Given the description of an element on the screen output the (x, y) to click on. 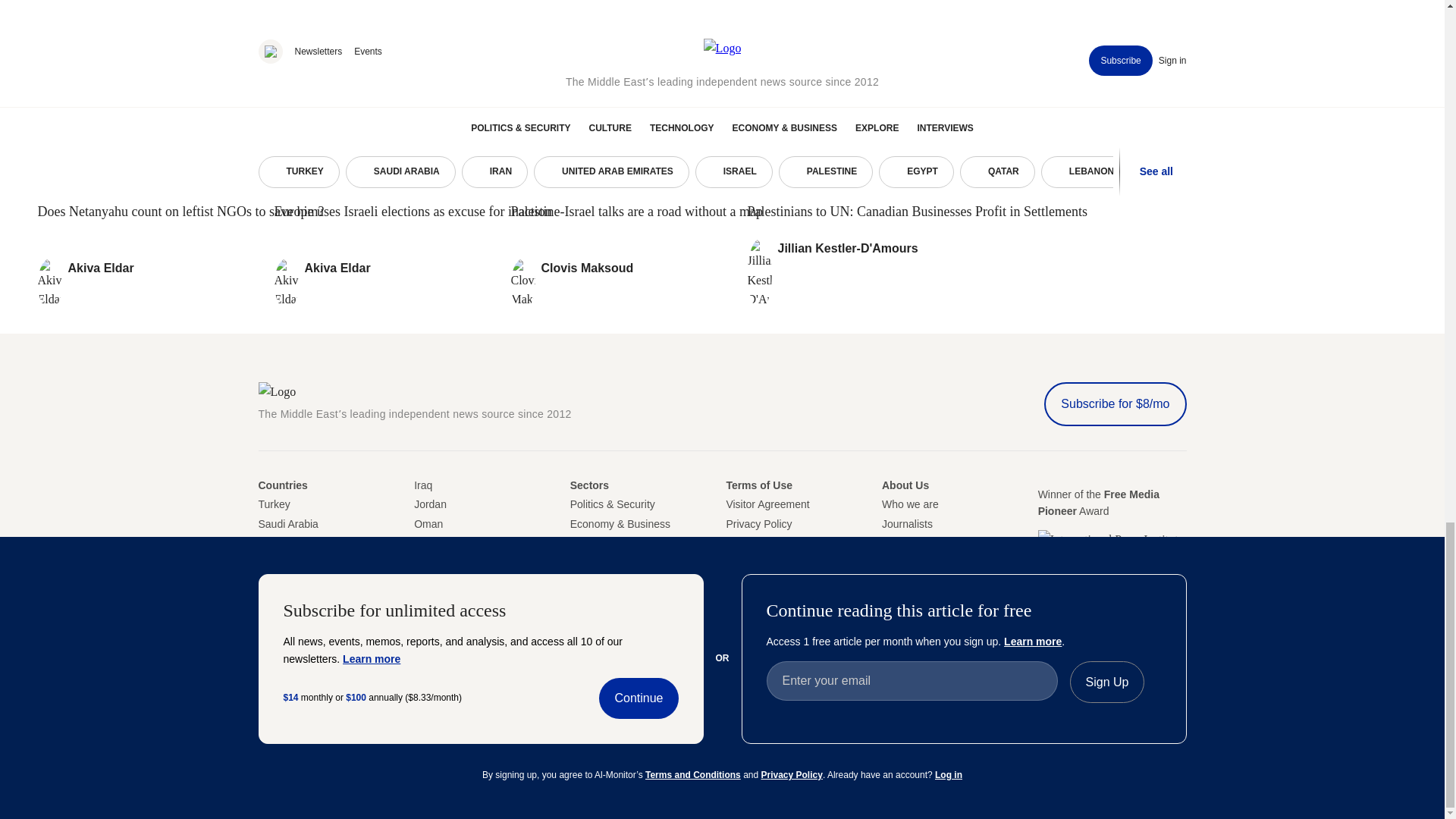
United Arab Amirates (268, 562)
